Given the description of an element on the screen output the (x, y) to click on. 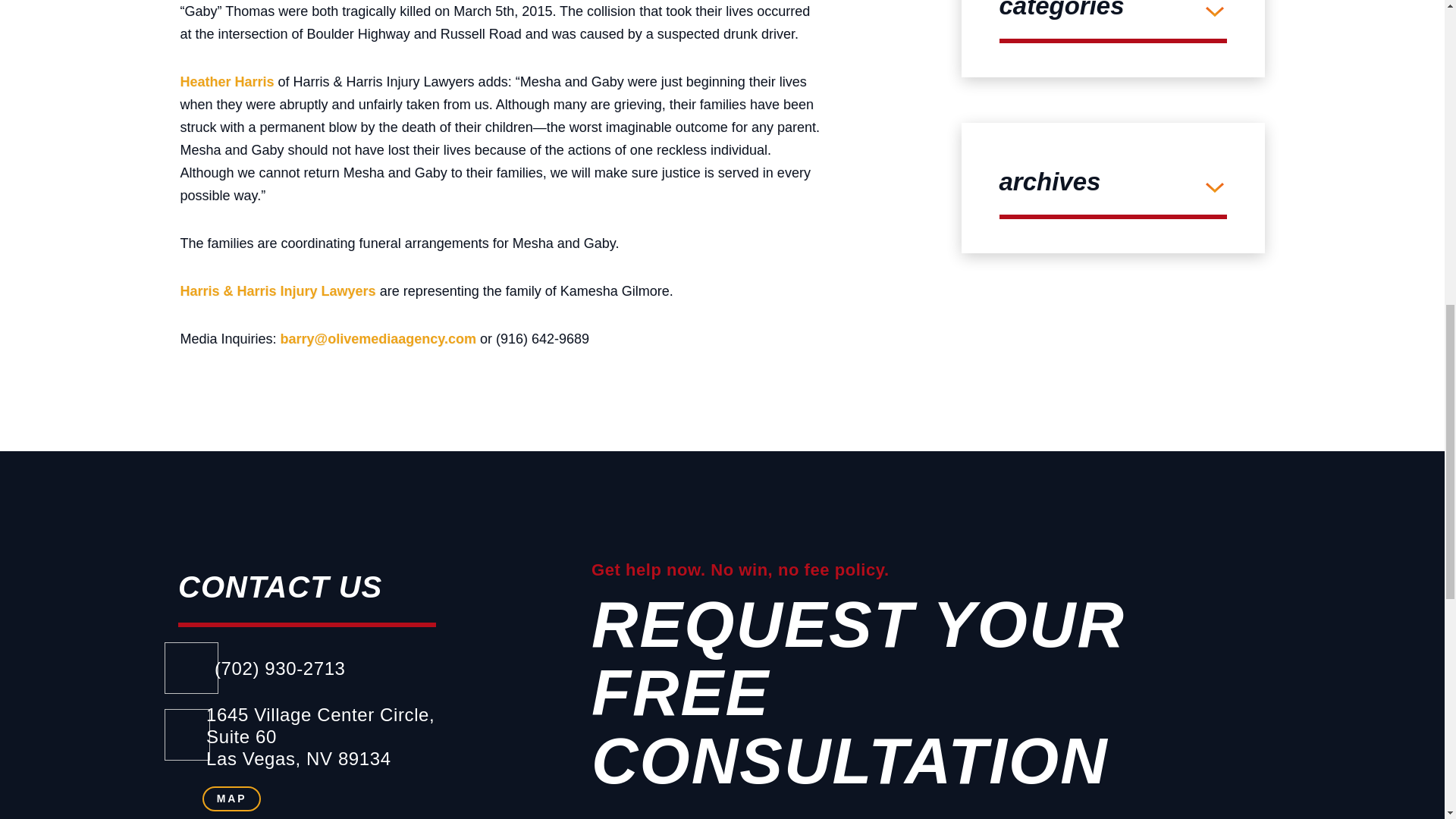
Heather Harris (227, 82)
